Given the description of an element on the screen output the (x, y) to click on. 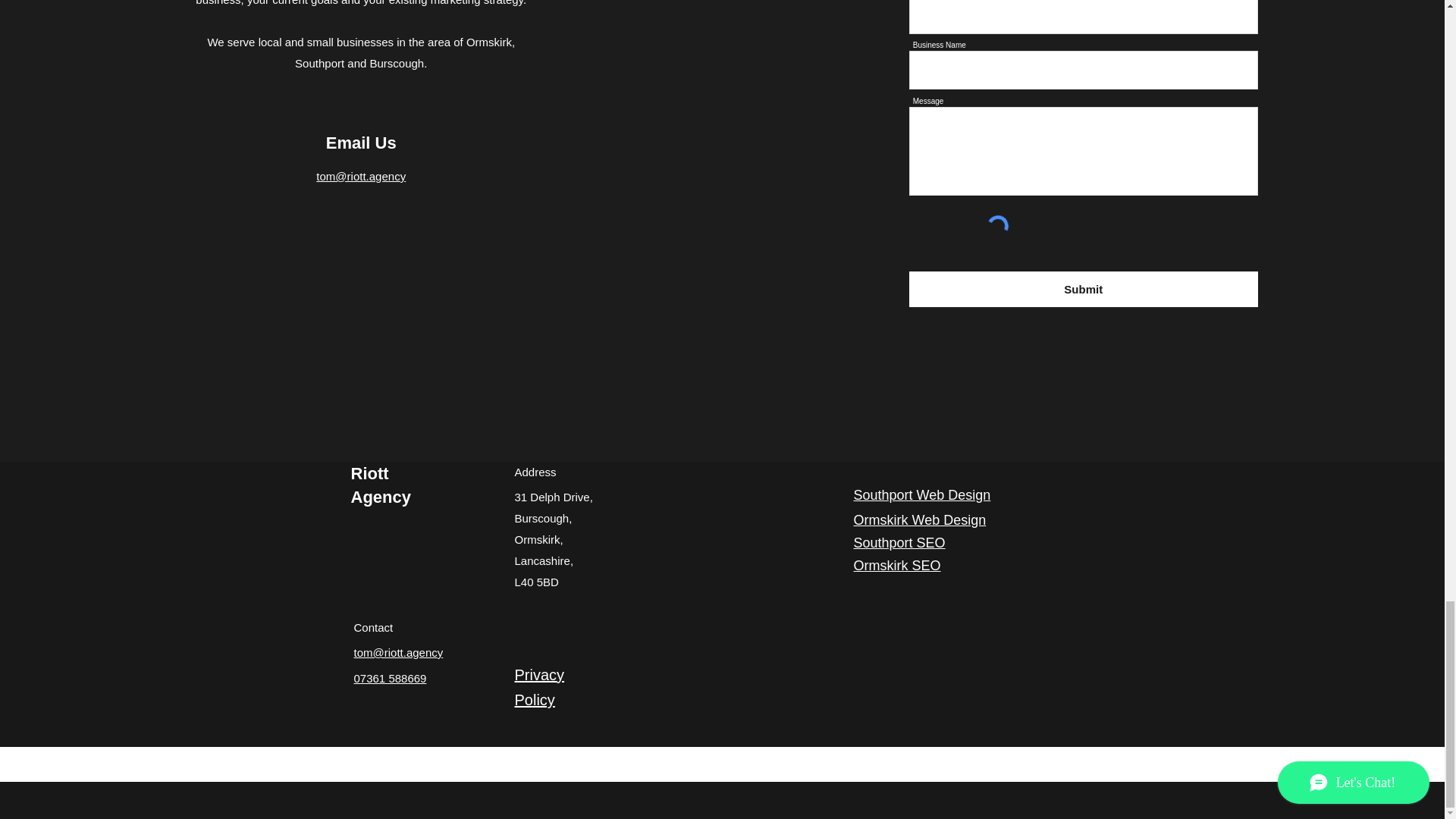
Southport SEO (898, 542)
Ormskirk SEO (896, 565)
Privacy Policy (538, 687)
Southport Web Design (922, 494)
07361 588669 (389, 677)
Submit (1082, 289)
Riott Agency (380, 485)
Ormskirk Web Design (920, 519)
